Given the description of an element on the screen output the (x, y) to click on. 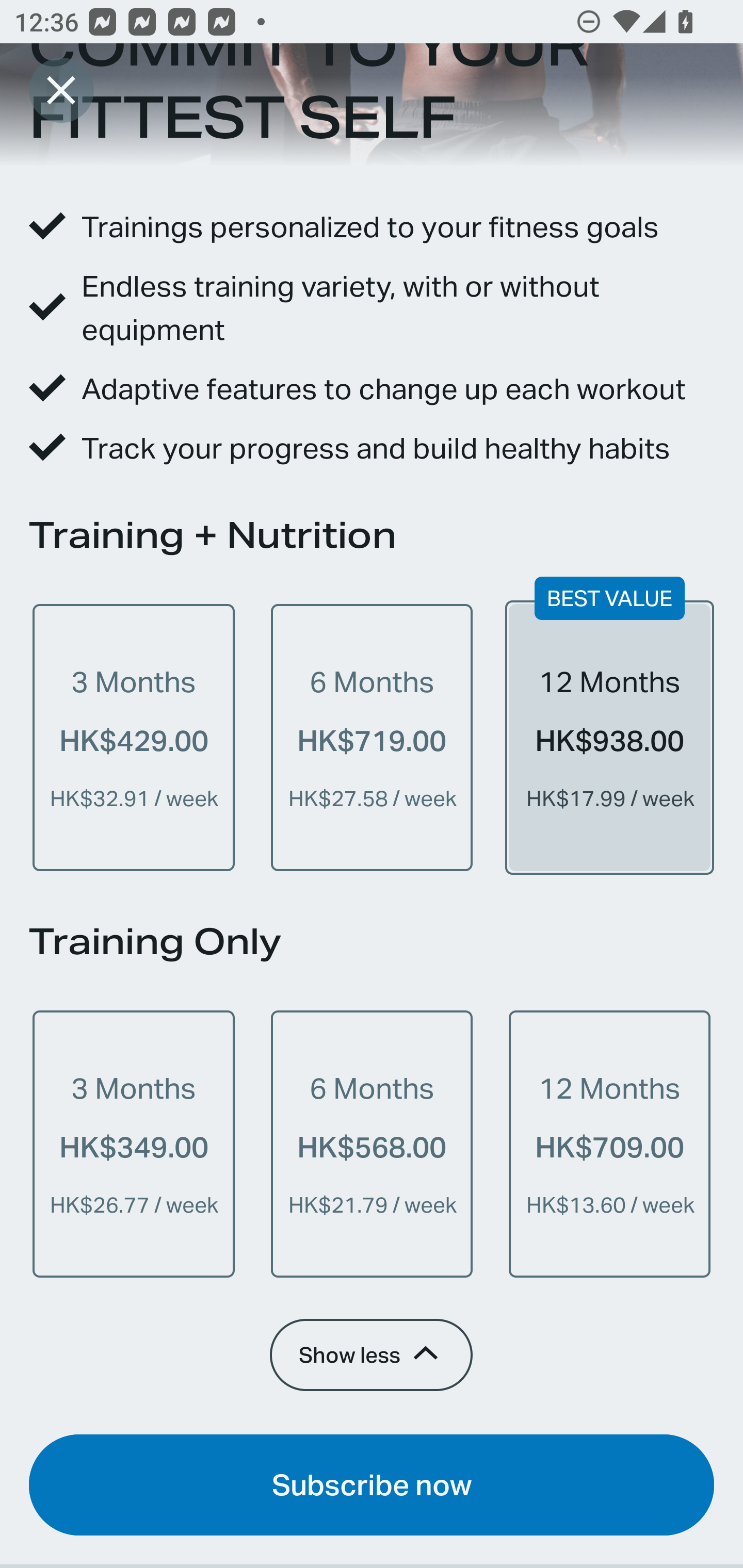
Close (60, 90)
3 Months HK$429.00 HK$32.91 / week (133, 737)
6 Months HK$719.00 HK$27.58 / week (371, 737)
12 Months HK$938.00 HK$17.99 / week (609, 737)
3 Months HK$349.00 HK$26.77 / week (133, 1143)
6 Months HK$568.00 HK$21.79 / week (371, 1143)
12 Months HK$709.00 HK$13.60 / week (609, 1143)
Show less (370, 1354)
Subscribe now (371, 1484)
